Given the description of an element on the screen output the (x, y) to click on. 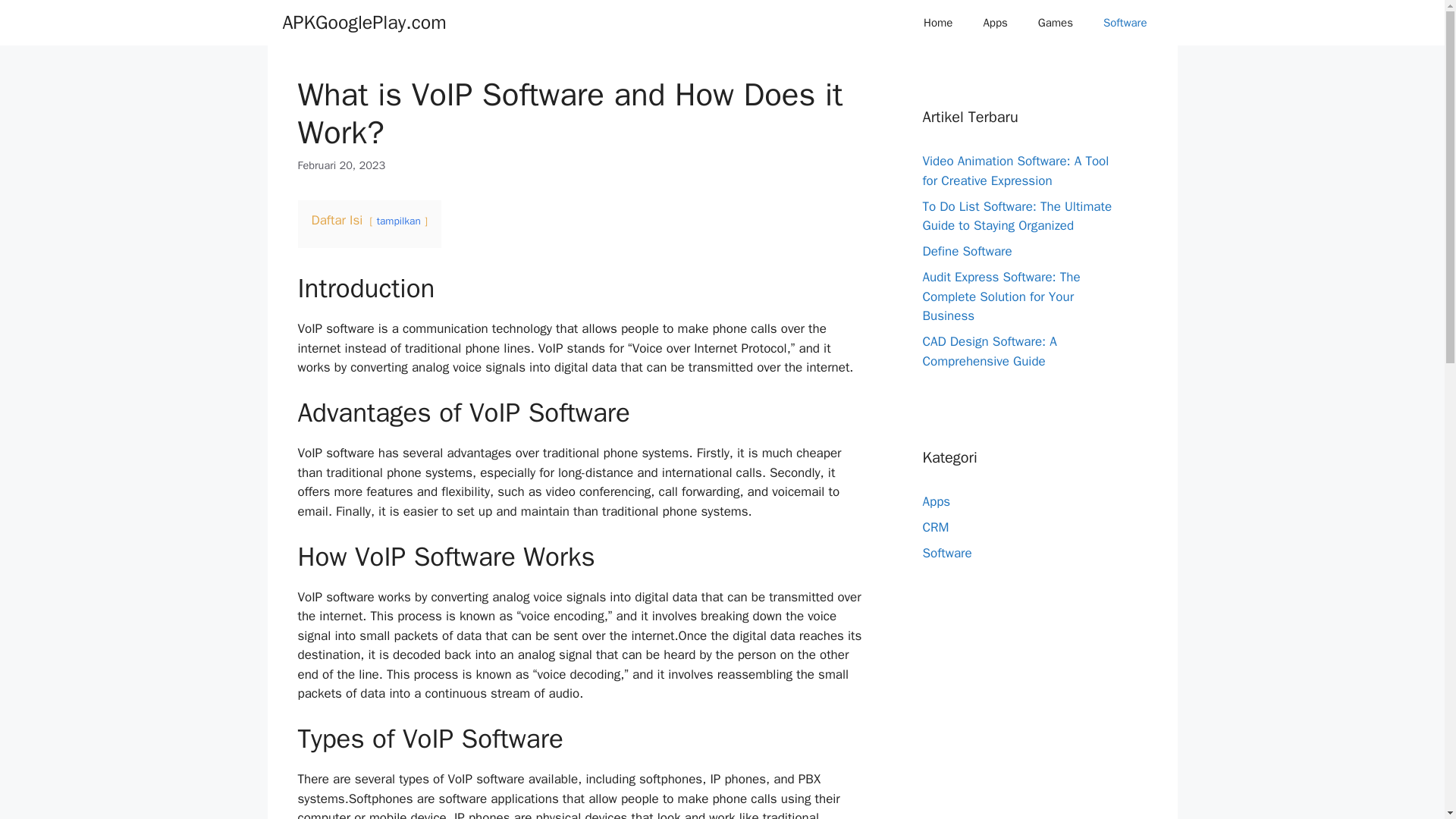
Home (938, 22)
APKGooglePlay.com (363, 22)
Video Animation Software: A Tool for Creative Expression (1014, 171)
Apps (995, 22)
To Do List Software: The Ultimate Guide to Staying Organized (1016, 216)
Software (1124, 22)
Games (1055, 22)
tampilkan (398, 220)
